Given the description of an element on the screen output the (x, y) to click on. 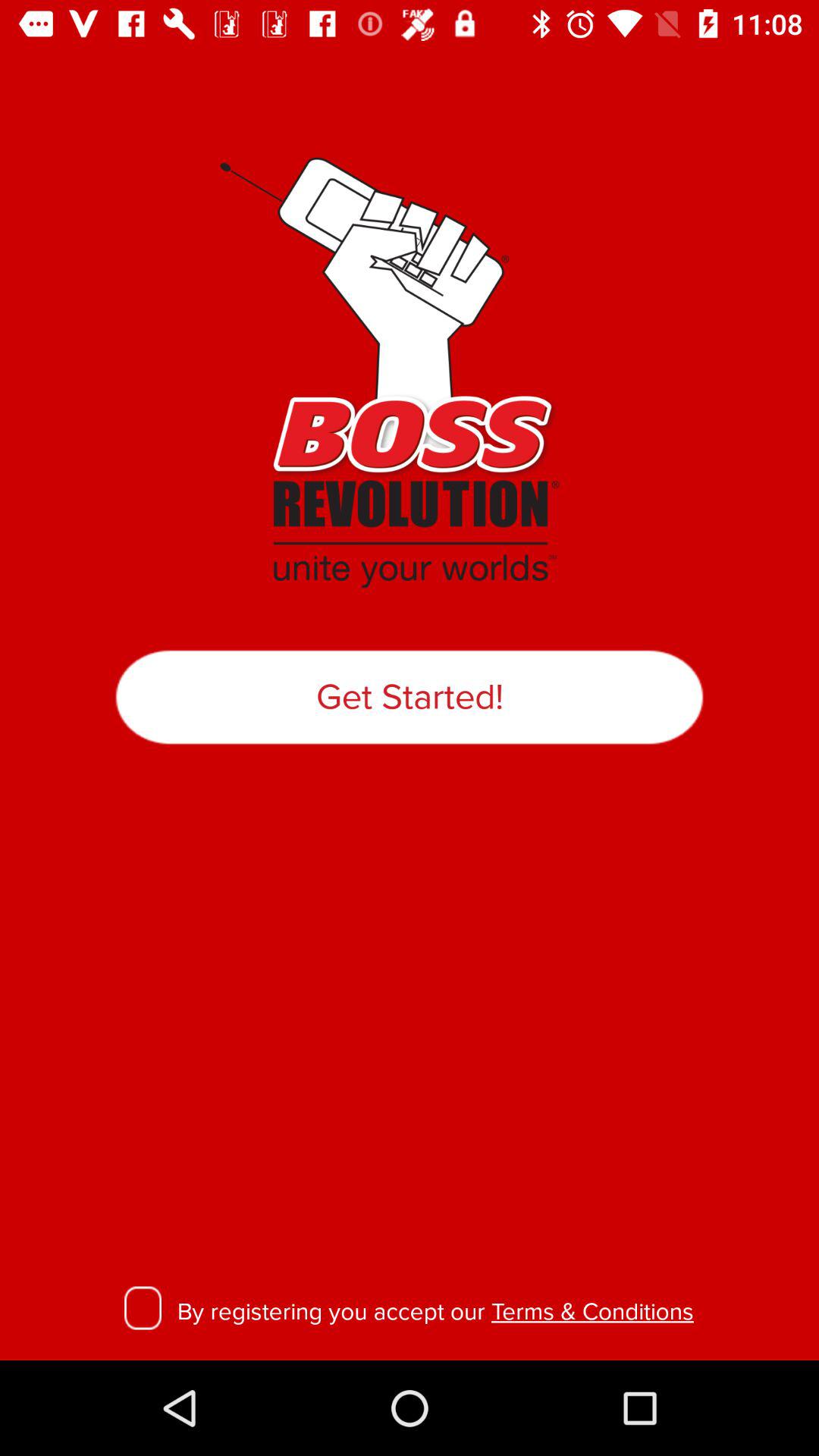
open get started! (409, 697)
